Given the description of an element on the screen output the (x, y) to click on. 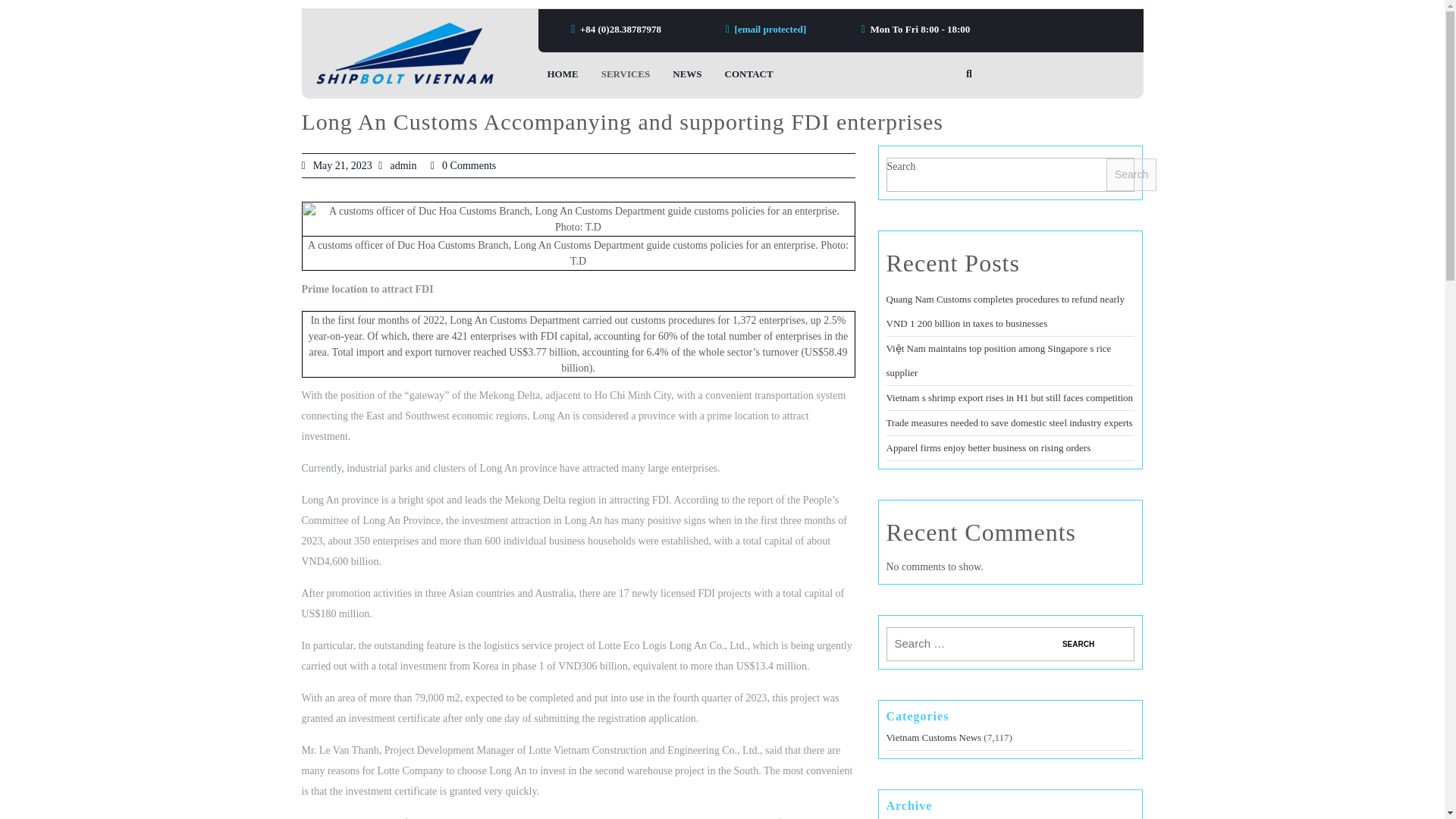
CONTACT (749, 73)
NEWS (686, 73)
Apparel firms enjoy better business on rising orders (987, 447)
HOME (562, 73)
Vietnam Customs News (933, 737)
Search (1078, 644)
Search (1131, 174)
admin (403, 165)
Search (1078, 644)
Search (1078, 644)
SERVICES (625, 73)
